Given the description of an element on the screen output the (x, y) to click on. 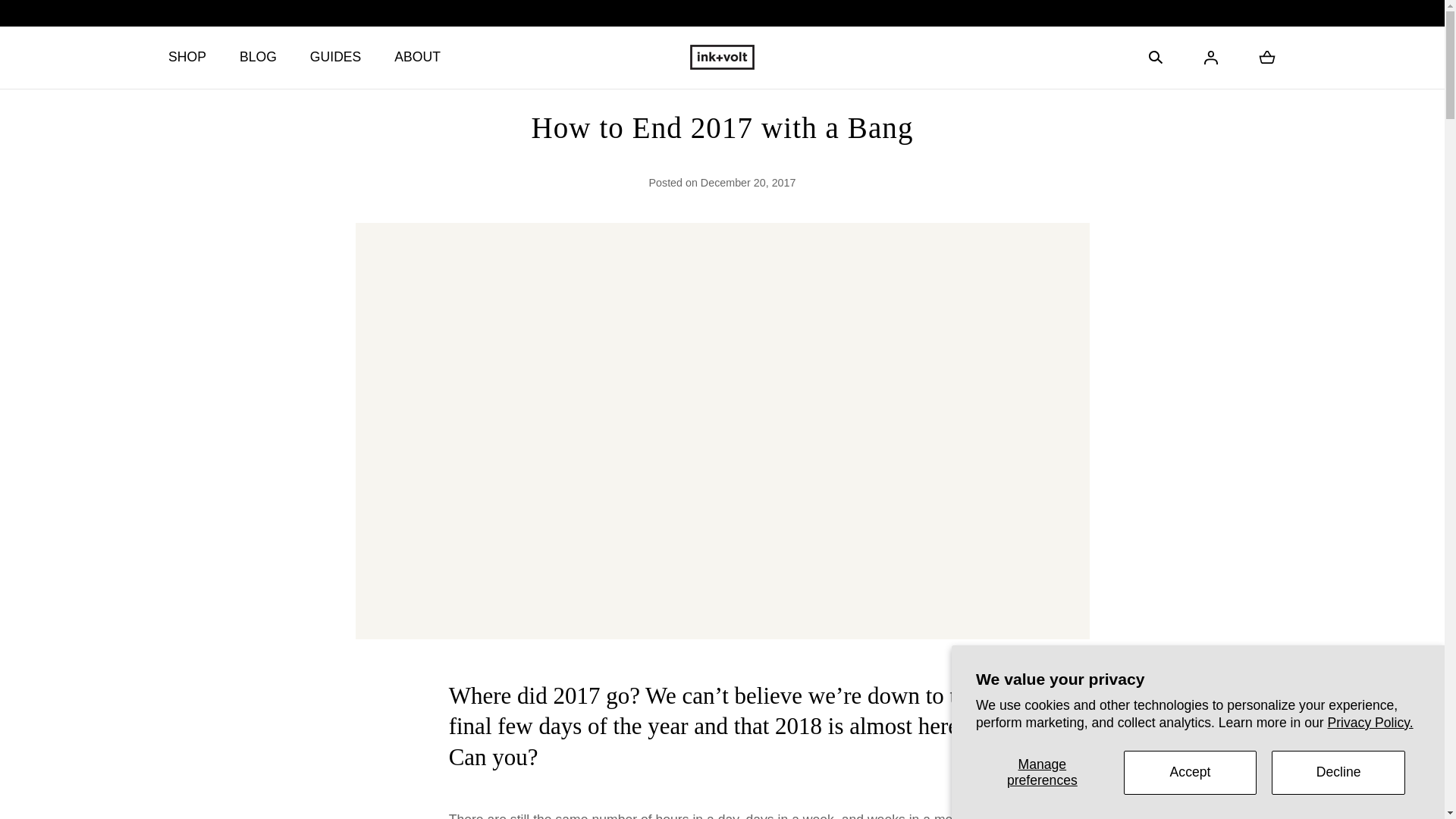
Privacy Policy. (1370, 722)
Decline (1338, 772)
SKIP TO CONTENT (88, 20)
Manage preferences (1041, 772)
Accept (1190, 772)
